Given the description of an element on the screen output the (x, y) to click on. 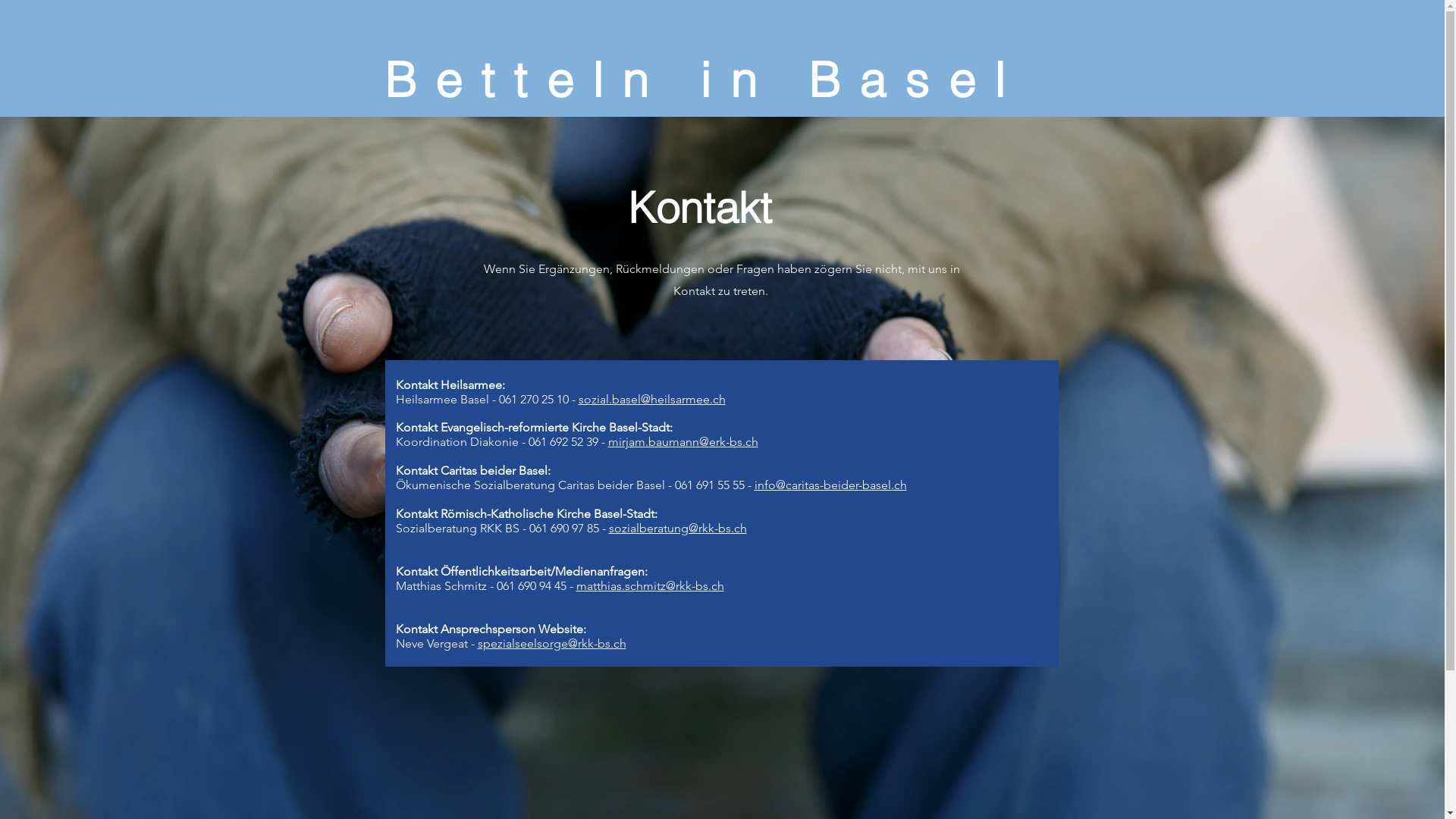
spezialseelsorge@rkk-bs.ch Element type: text (551, 643)
mirjam.baumann@erk-bs.ch Element type: text (683, 441)
info@caritas-beider-basel.ch Element type: text (829, 484)
Betteln in Basel  Element type: text (720, 79)
sozialberatung@rkk-bs.ch Element type: text (677, 527)
sozial.basel@heilsarmee.ch Element type: text (650, 399)
matthias.schmitz@rkk-bs.ch Element type: text (650, 585)
